Given the description of an element on the screen output the (x, y) to click on. 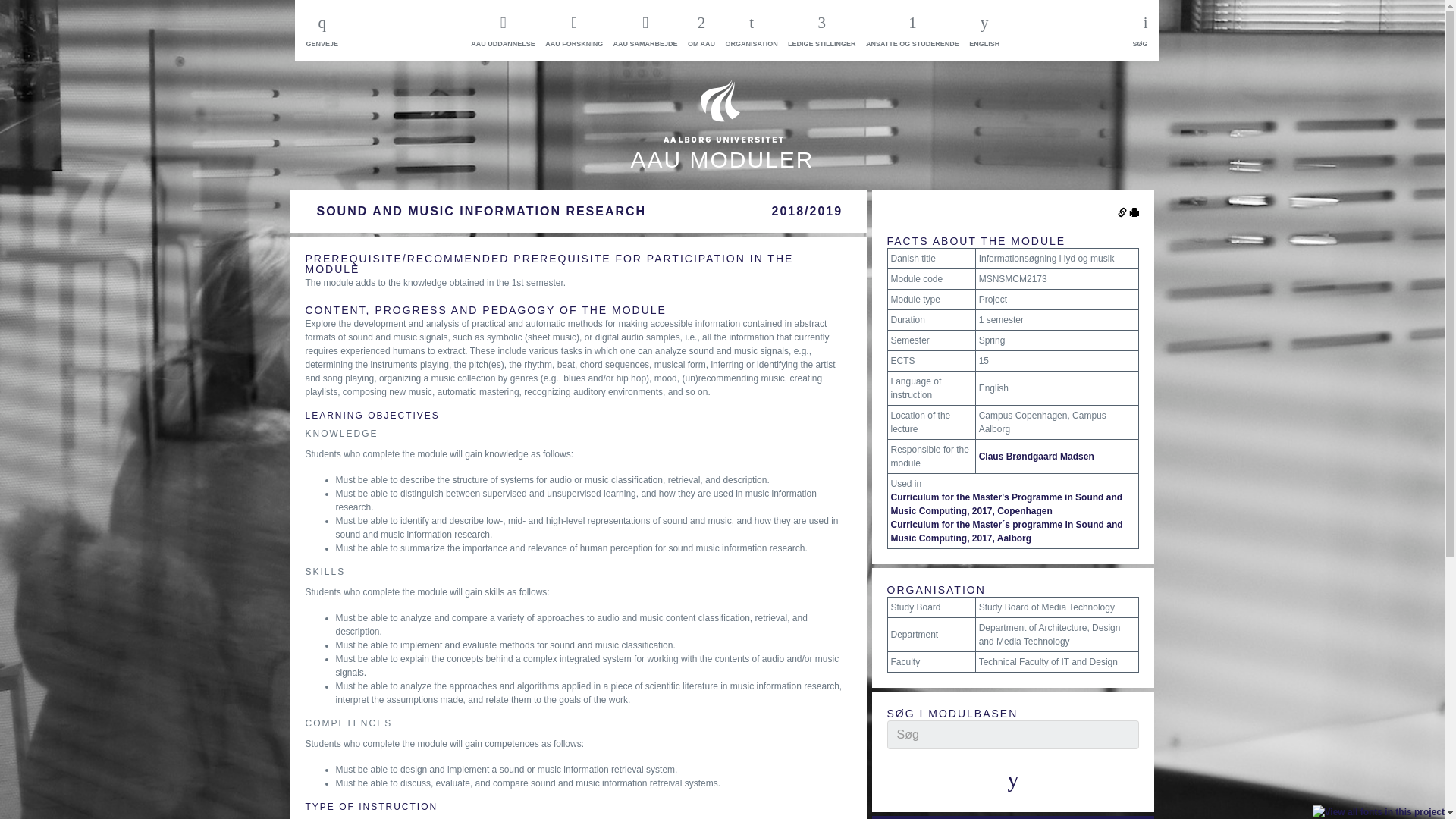
ANSATTE OG STUDERENDE (912, 30)
AAU (722, 139)
AAU SAMARBEJDE (645, 30)
AAU FORSKNING (573, 30)
ORGANISATION (751, 30)
LEDIGE STILLINGER (821, 30)
AAU UDDANNELSE (502, 30)
AAU MODULER (722, 139)
